Given the description of an element on the screen output the (x, y) to click on. 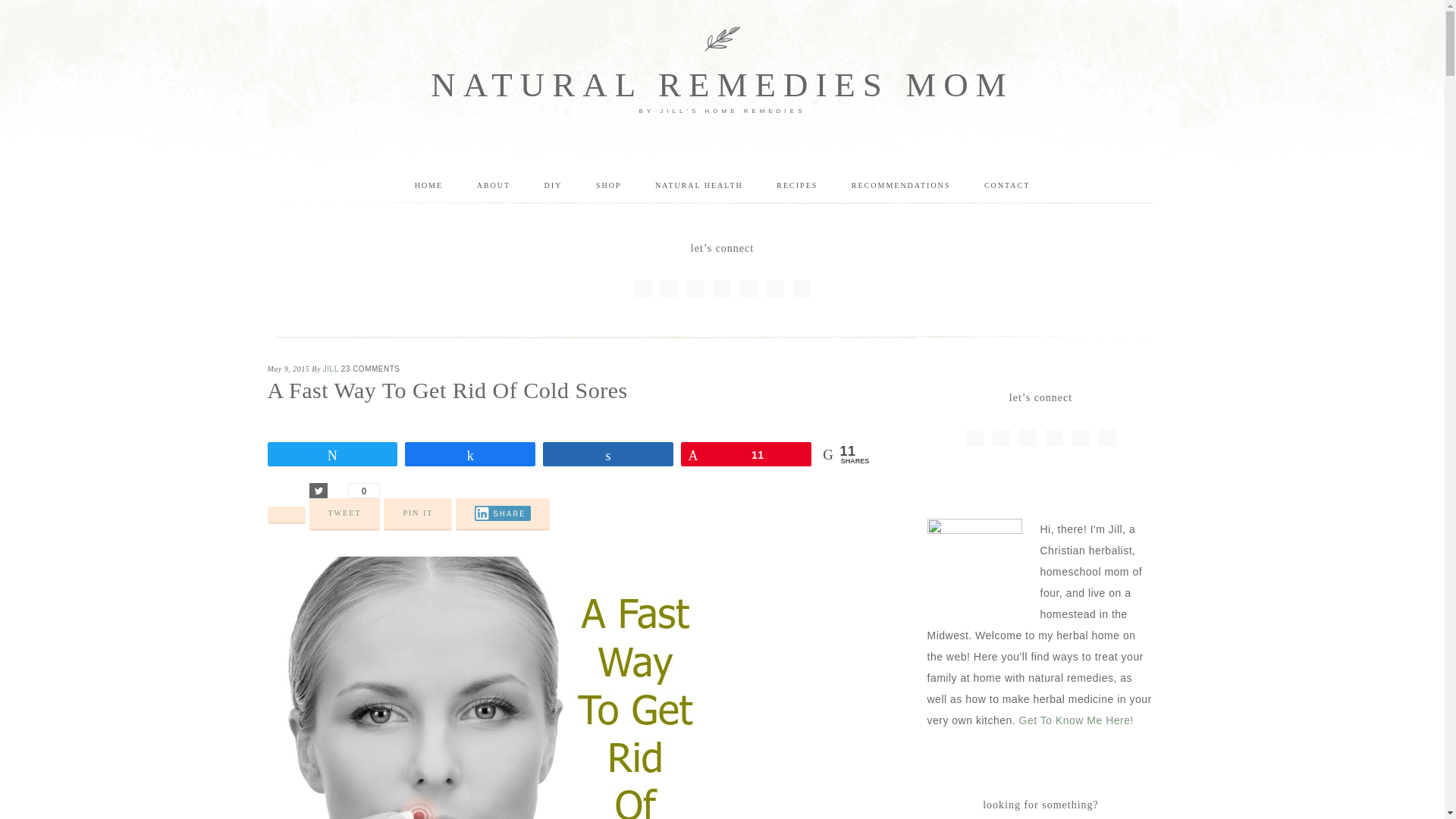
Tweet (317, 490)
HOME (428, 185)
11 (745, 454)
0 (363, 490)
SHARE (502, 513)
ABOUT (493, 185)
23 COMMENTS (370, 368)
DIY (553, 185)
NATURAL REMEDIES MOM (721, 85)
RECOMMENDATIONS (900, 185)
NATURAL HEALTH (699, 185)
RECIPES (796, 185)
JILL (331, 368)
SHOP (608, 185)
CONTACT (1007, 185)
